Given the description of an element on the screen output the (x, y) to click on. 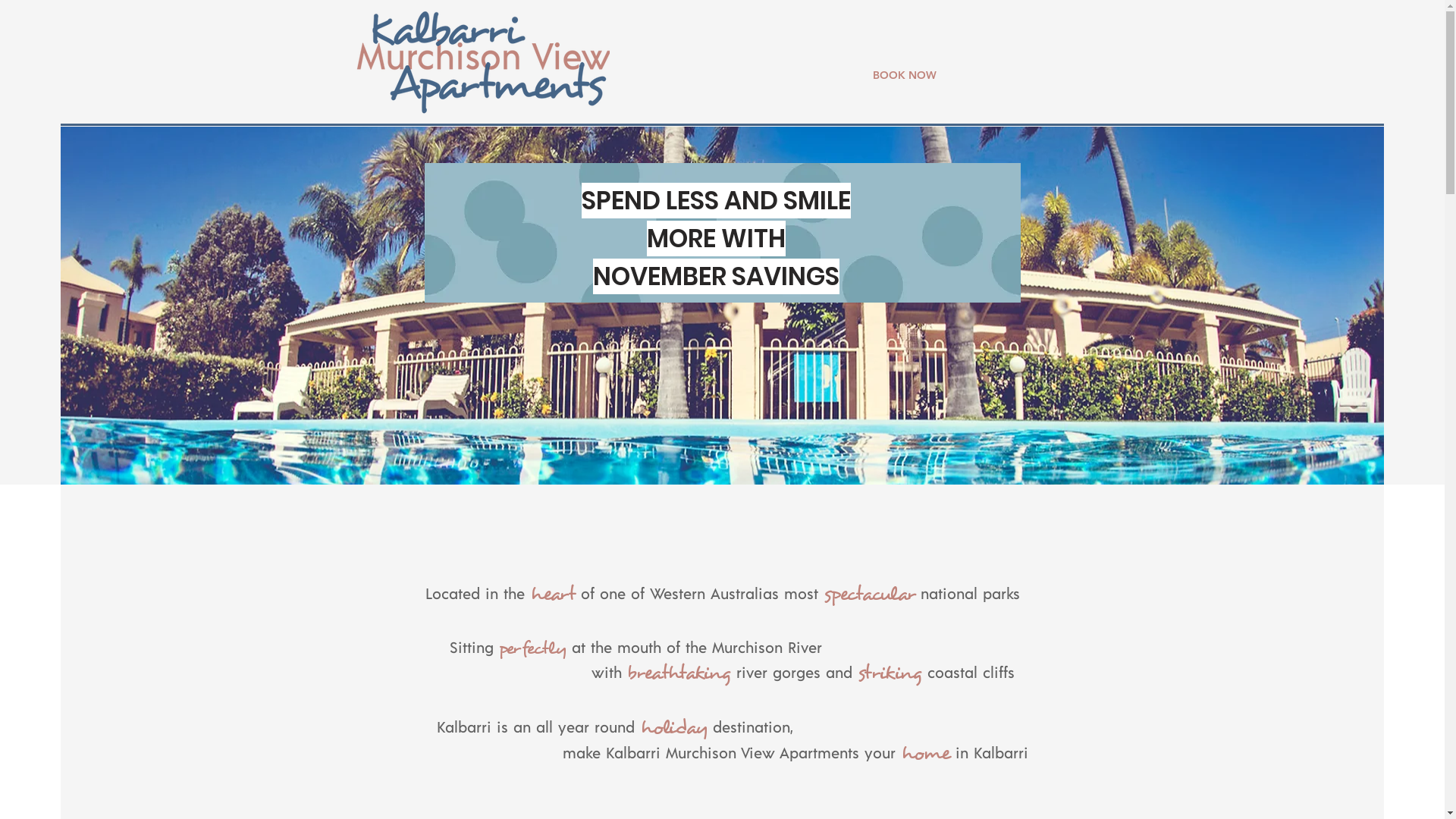
BOOK NOW Element type: text (1110, 49)
BOOK NOW Element type: text (903, 74)
